Given the description of an element on the screen output the (x, y) to click on. 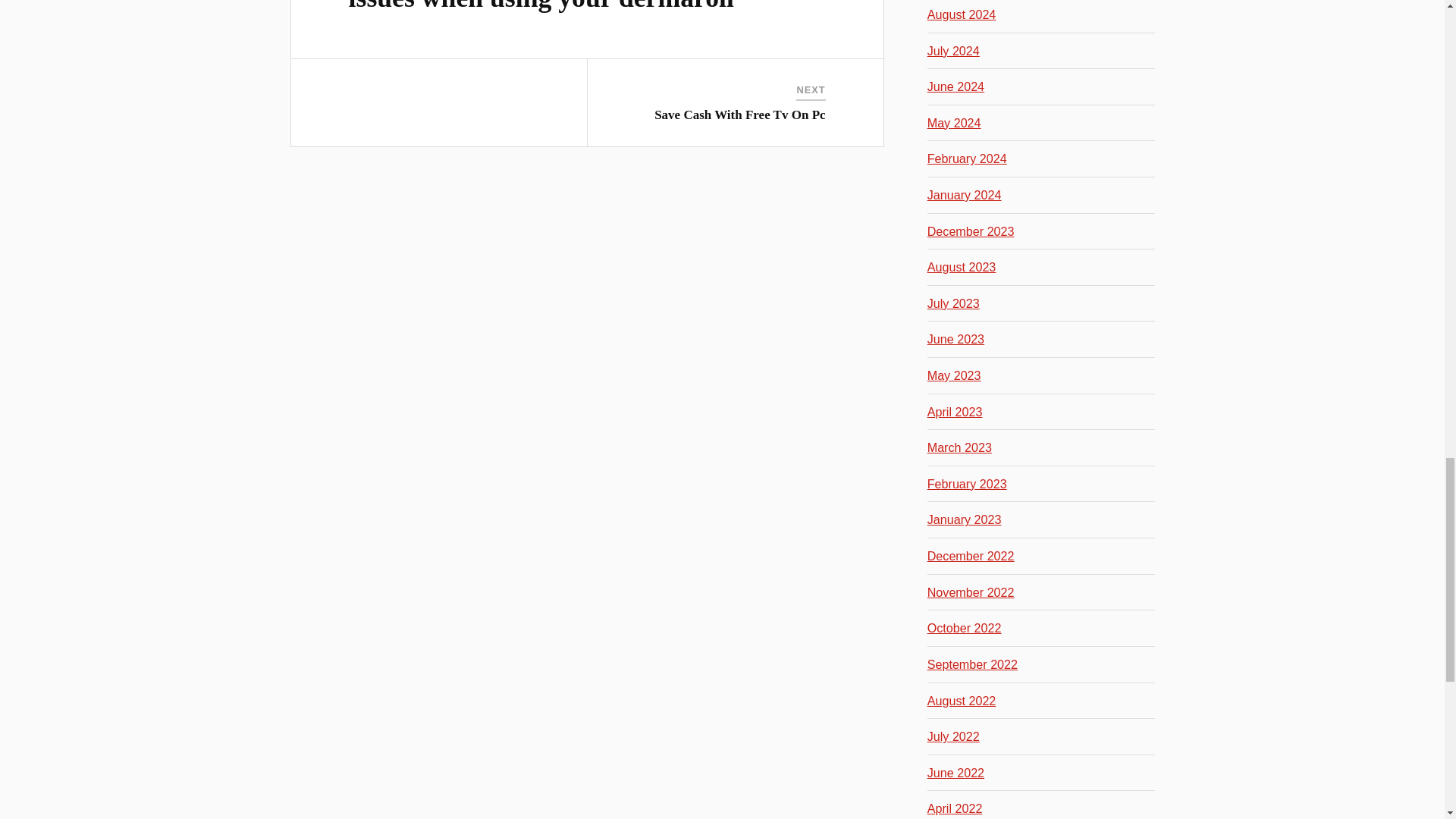
January 2024 (964, 194)
August 2023 (961, 266)
Save Cash With Free Tv On Pc (739, 114)
February 2024 (967, 158)
July 2024 (953, 50)
August 2024 (961, 14)
May 2024 (954, 122)
December 2023 (970, 231)
June 2024 (955, 86)
July 2023 (953, 303)
